Given the description of an element on the screen output the (x, y) to click on. 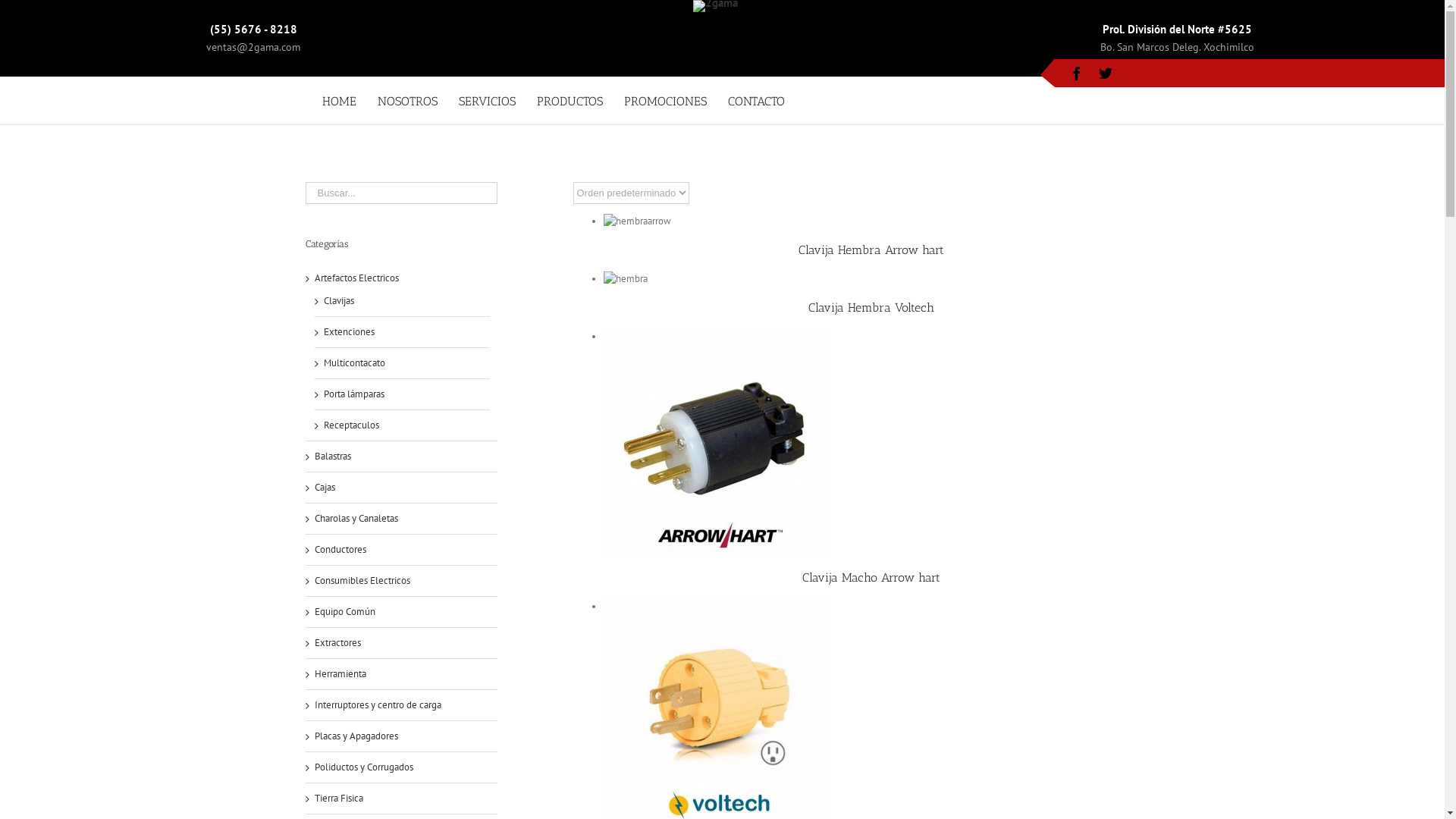
PROMOCIONES Element type: text (665, 100)
Clavijas Element type: text (338, 300)
Receptaculos Element type: text (350, 424)
Interruptores y centro de carga Element type: text (376, 704)
HOME Element type: text (339, 100)
Clavija Hembra Voltech Element type: text (871, 307)
Tierra Fisica Element type: text (337, 797)
Clavija Macho Arrow hart Element type: text (871, 577)
SERVICIOS Element type: text (486, 100)
NOSOTROS Element type: text (407, 100)
Clavija Hembra Arrow hart Element type: text (871, 249)
Cajas Element type: text (323, 486)
Conductores Element type: text (339, 548)
Facebook Element type: hover (1076, 73)
CONTACTO Element type: text (756, 100)
Herramienta Element type: text (339, 673)
Extractores Element type: text (336, 642)
Poliductos y Corrugados Element type: text (362, 766)
Consumibles Electricos Element type: text (361, 580)
Placas y Apagadores Element type: text (355, 735)
PRODUCTOS Element type: text (569, 100)
Twitter Element type: hover (1105, 73)
Extenciones Element type: text (348, 331)
Balastras Element type: text (331, 455)
Multicontacato Element type: text (353, 362)
Artefactos Electricos Element type: text (355, 277)
Charolas y Canaletas Element type: text (355, 517)
